Given the description of an element on the screen output the (x, y) to click on. 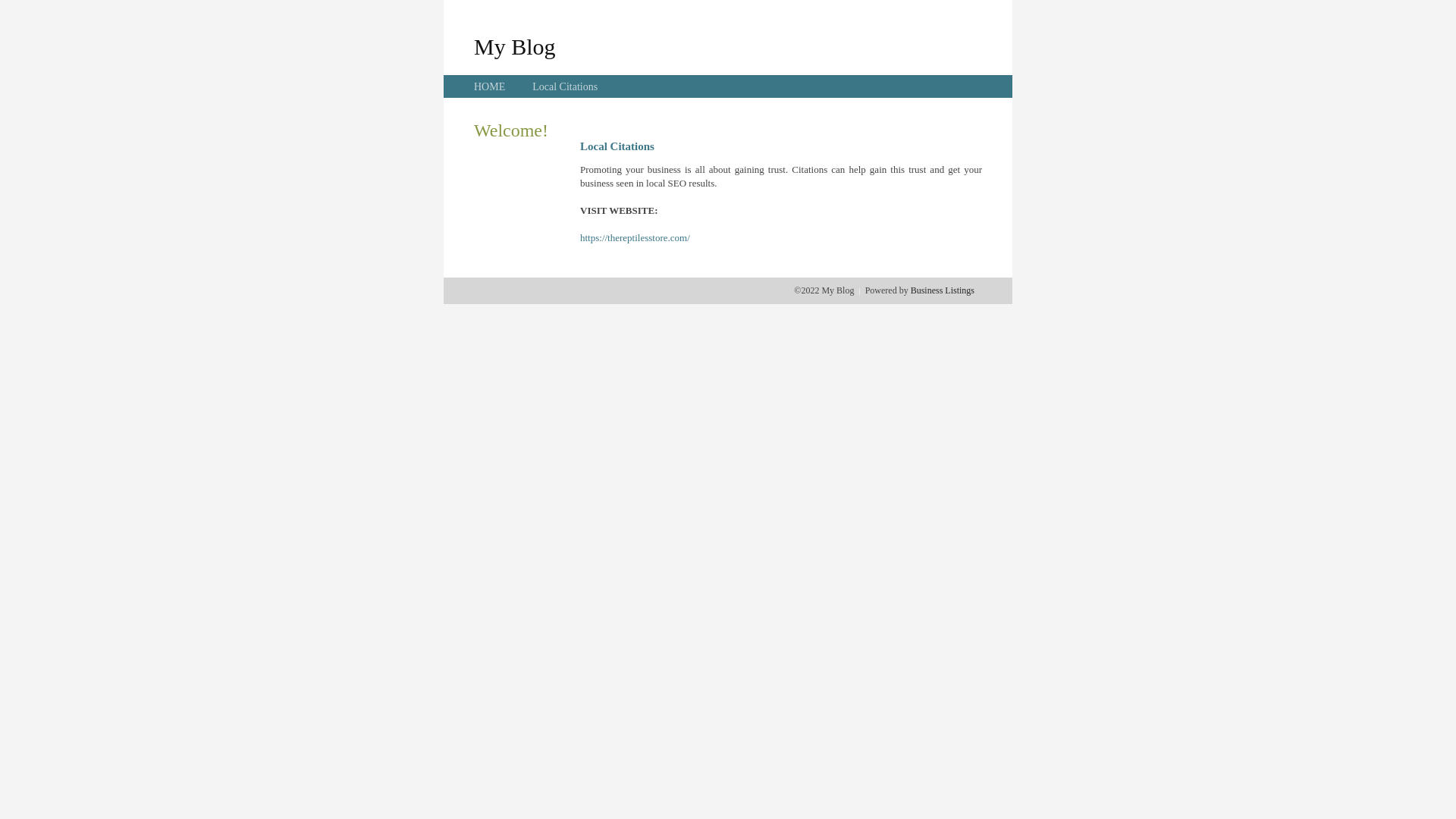
https://thereptilesstore.com/ Element type: text (635, 237)
Local Citations Element type: text (564, 86)
Business Listings Element type: text (942, 290)
My Blog Element type: text (514, 46)
HOME Element type: text (489, 86)
